Given the description of an element on the screen output the (x, y) to click on. 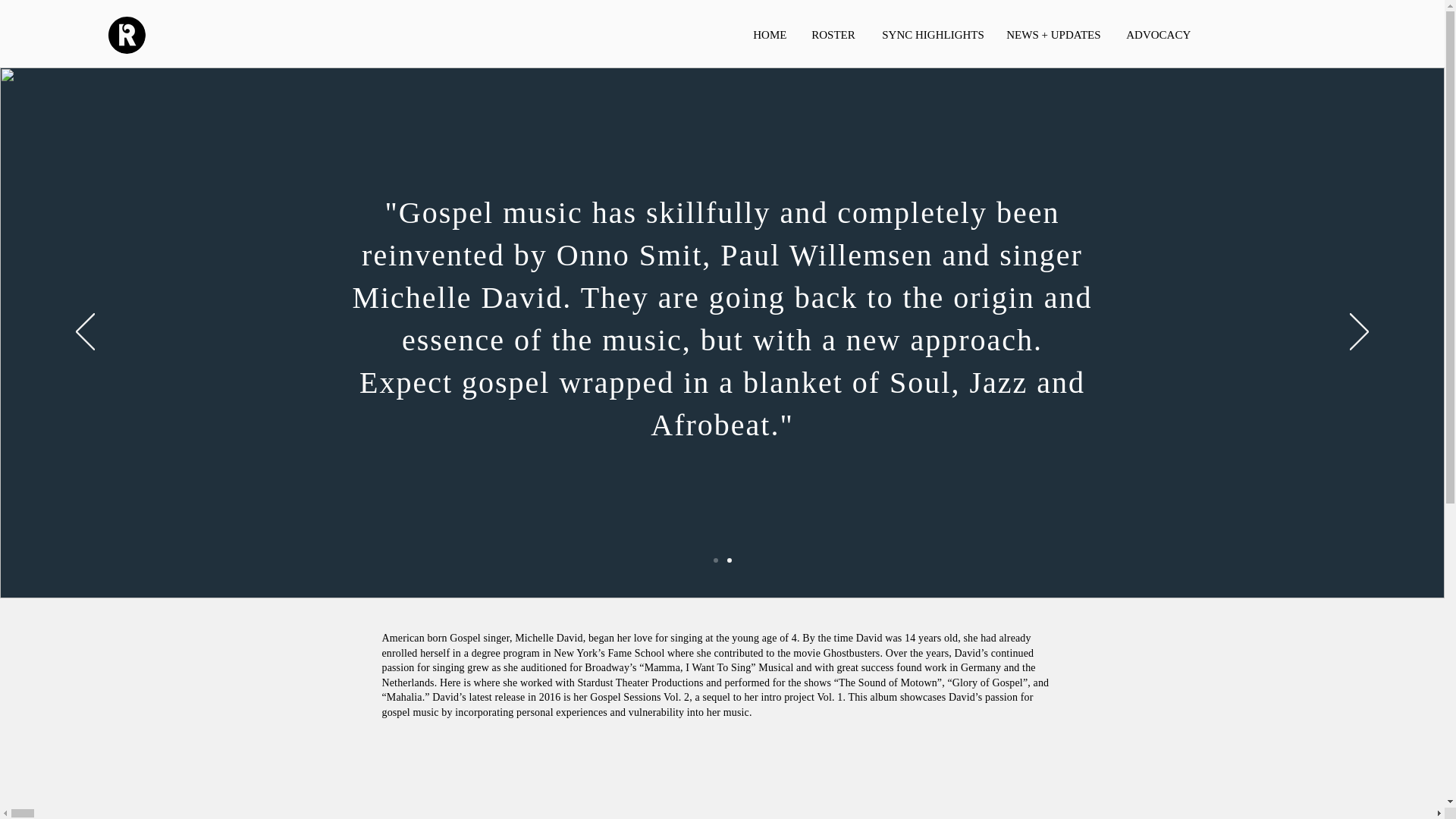
SYNC HIGHLIGHTS (931, 34)
HOME (770, 34)
ADVOCACY (1155, 34)
ROSTER (834, 34)
